Given the description of an element on the screen output the (x, y) to click on. 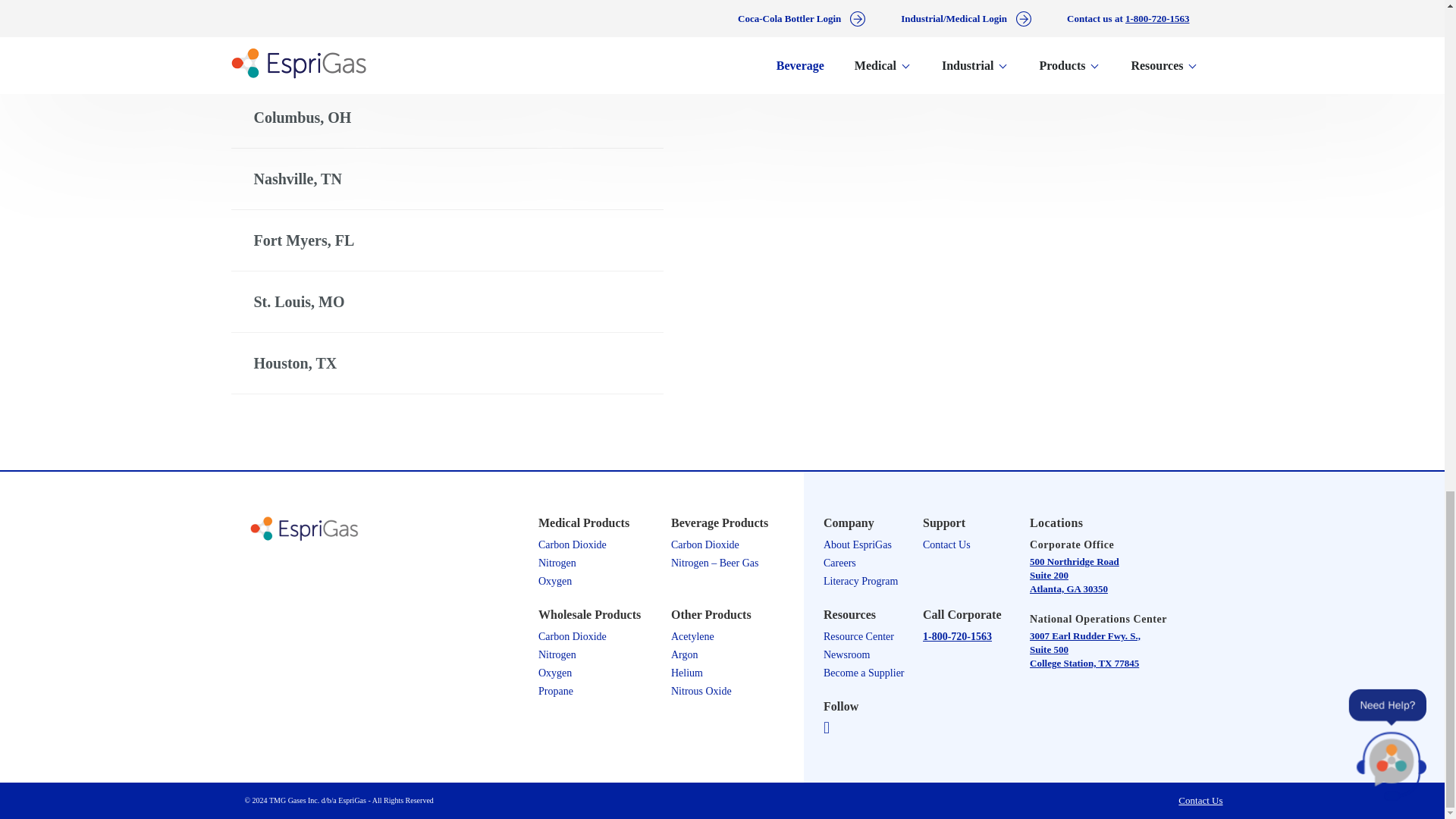
EspriGas (379, 530)
